Given the description of an element on the screen output the (x, y) to click on. 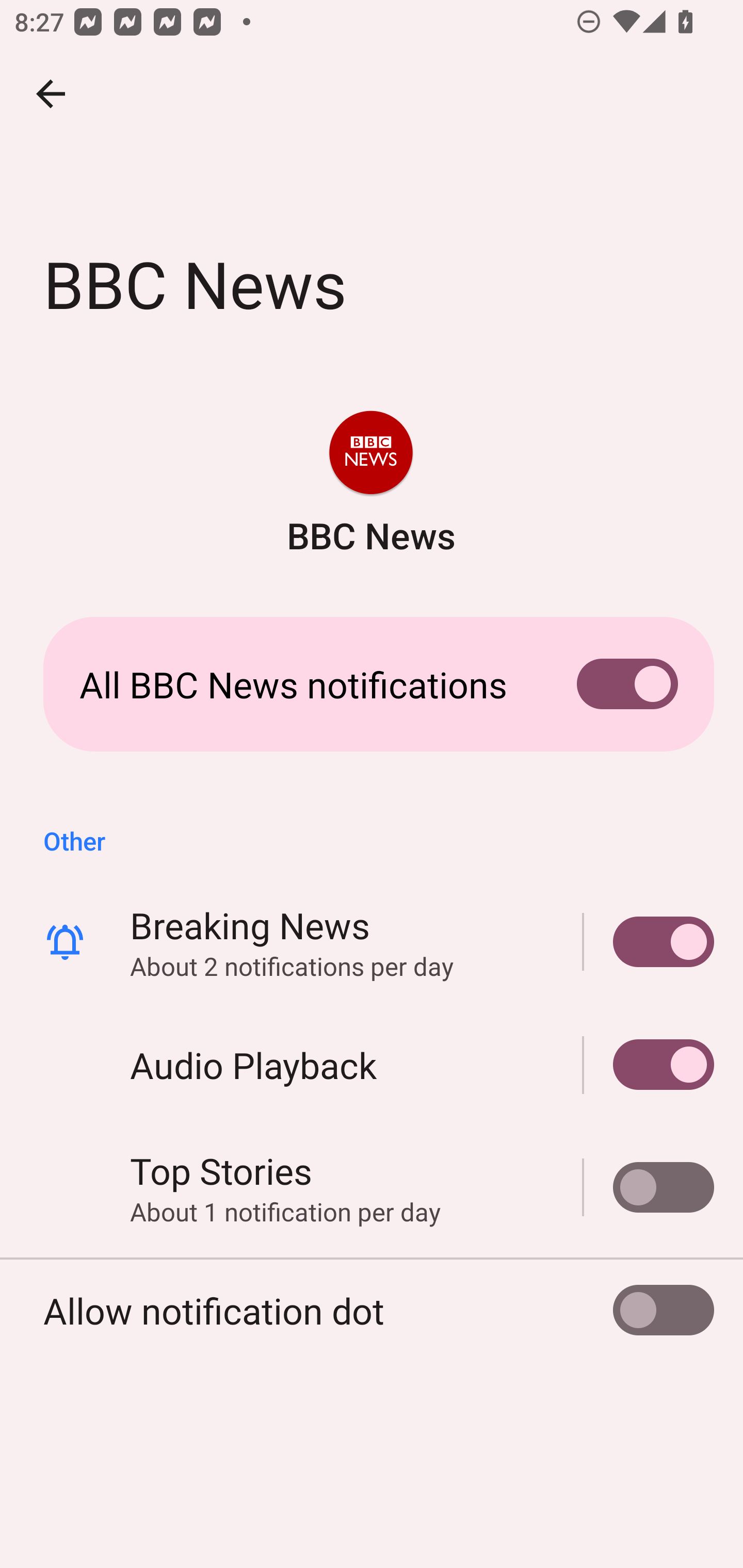
Navigate up (50, 93)
BBC News (370, 484)
All BBC News notifications (371, 684)
All BBC News notifications (371, 684)
Breaking News (648, 941)
Audio Playback (371, 1064)
Audio Playback (648, 1064)
Top Stories (648, 1187)
Allow notification dot (371, 1309)
